Given the description of an element on the screen output the (x, y) to click on. 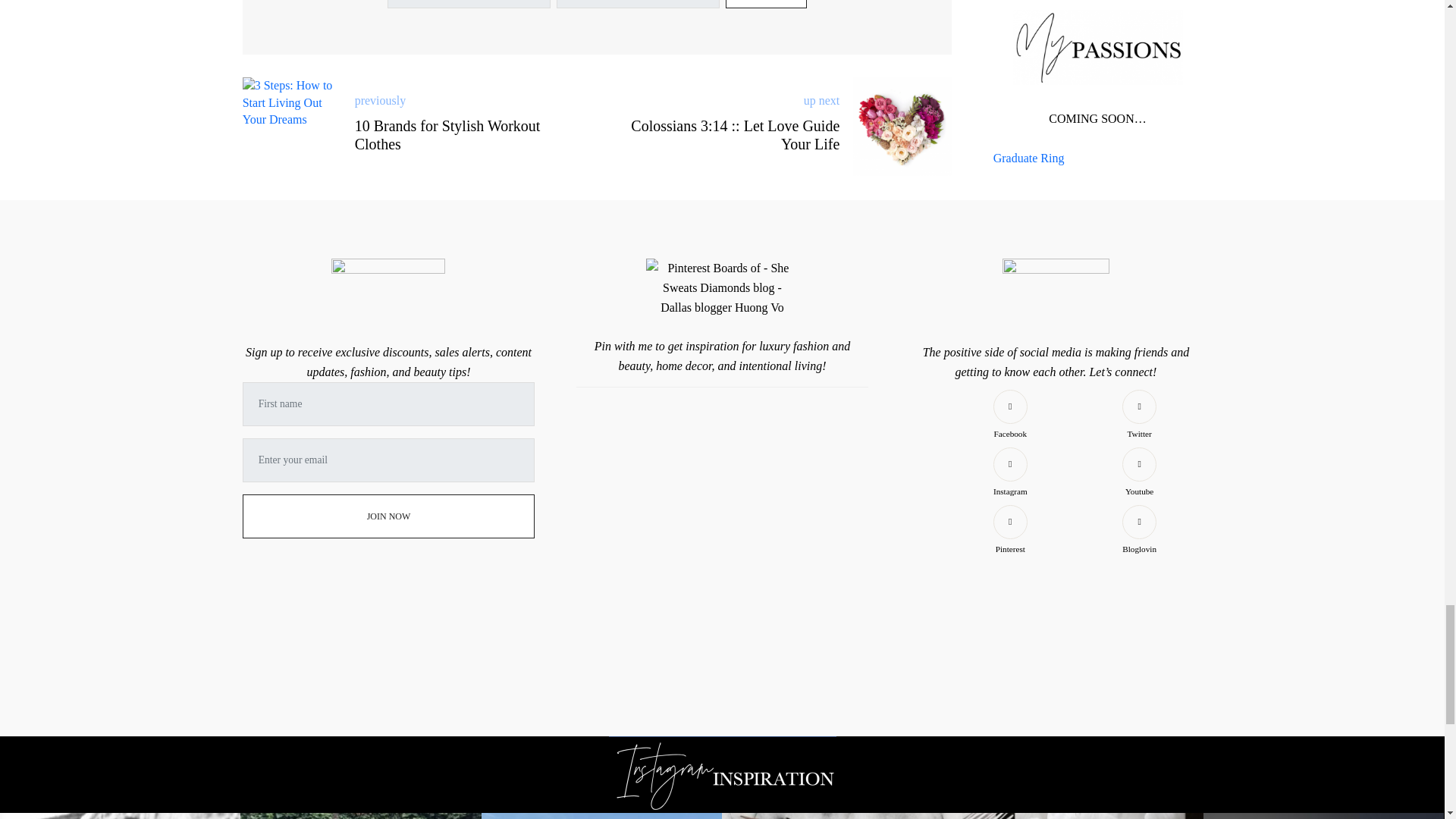
Subscribe (765, 4)
Join Now (389, 516)
